Given the description of an element on the screen output the (x, y) to click on. 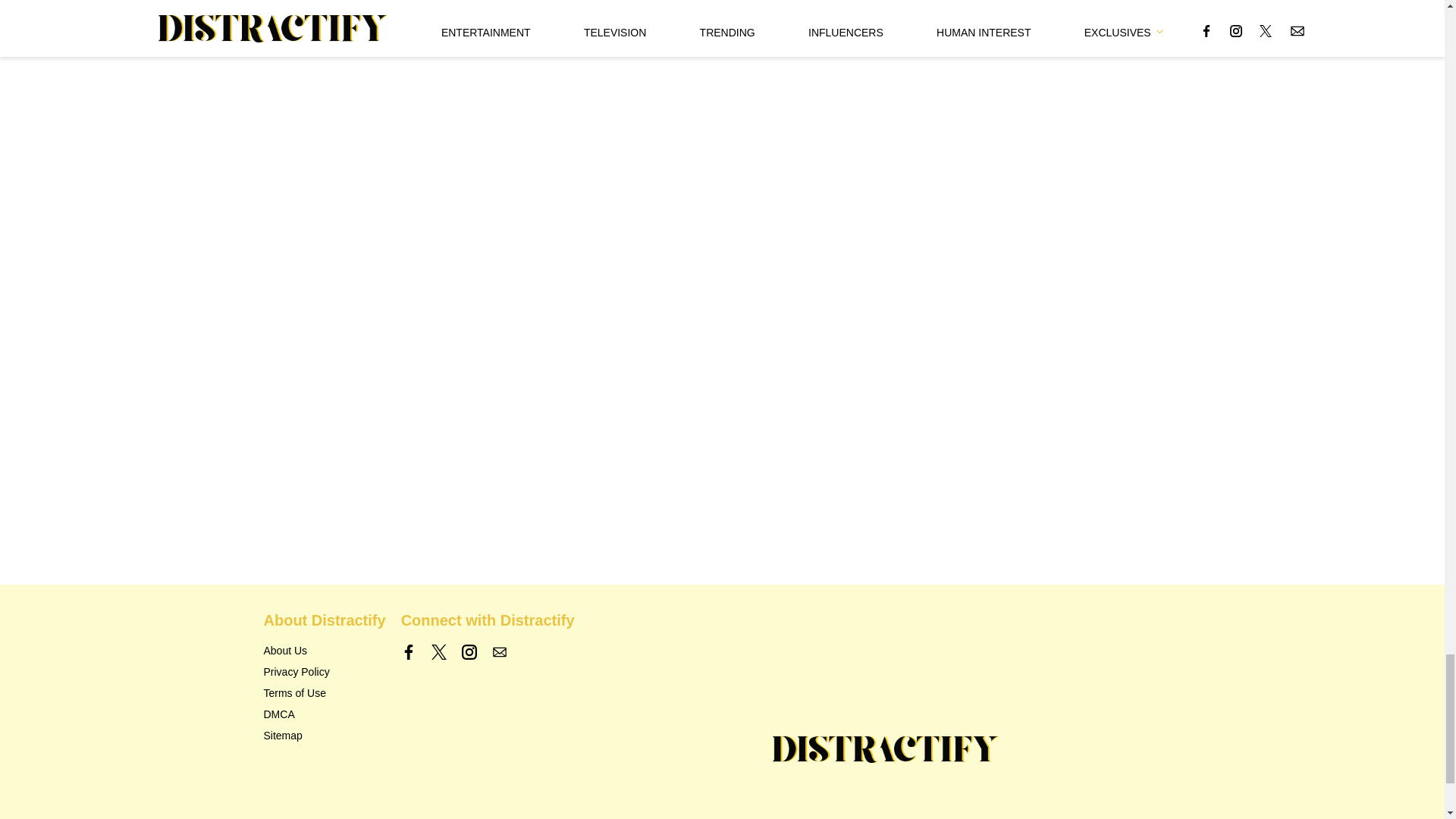
Link to Instagram (469, 652)
Privacy Policy (296, 671)
Link to Facebook (408, 652)
Terms of Use (294, 693)
Sitemap (282, 735)
Contact us by Email (499, 652)
DMCA (279, 714)
About Us (285, 650)
Link to X (438, 652)
